Given the description of an element on the screen output the (x, y) to click on. 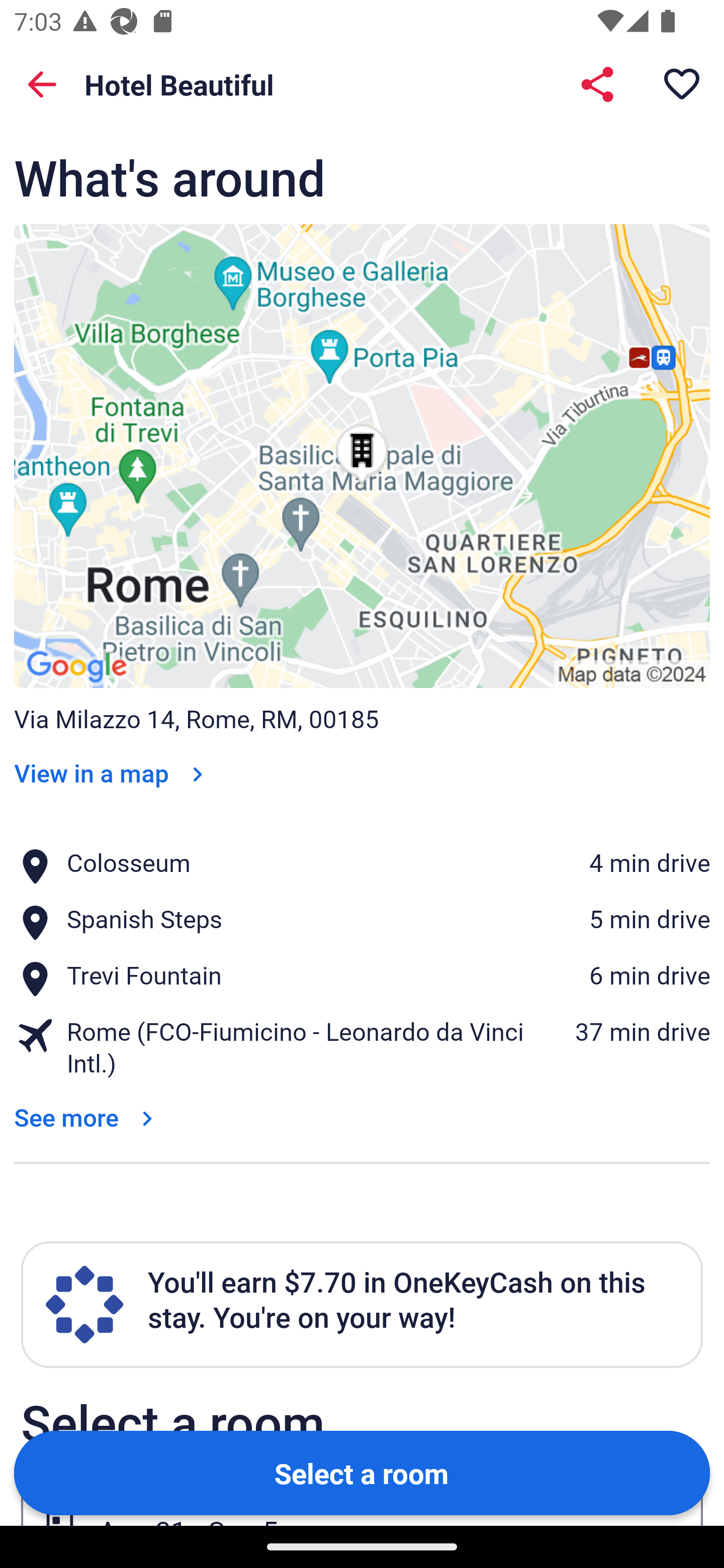
See all property amenities (178, 68)
Back (42, 84)
Save property to a trip (681, 84)
Share Hotel Beautiful (597, 84)
See more (86, 1116)
Select a room Button Select a room (361, 1472)
